Given the description of an element on the screen output the (x, y) to click on. 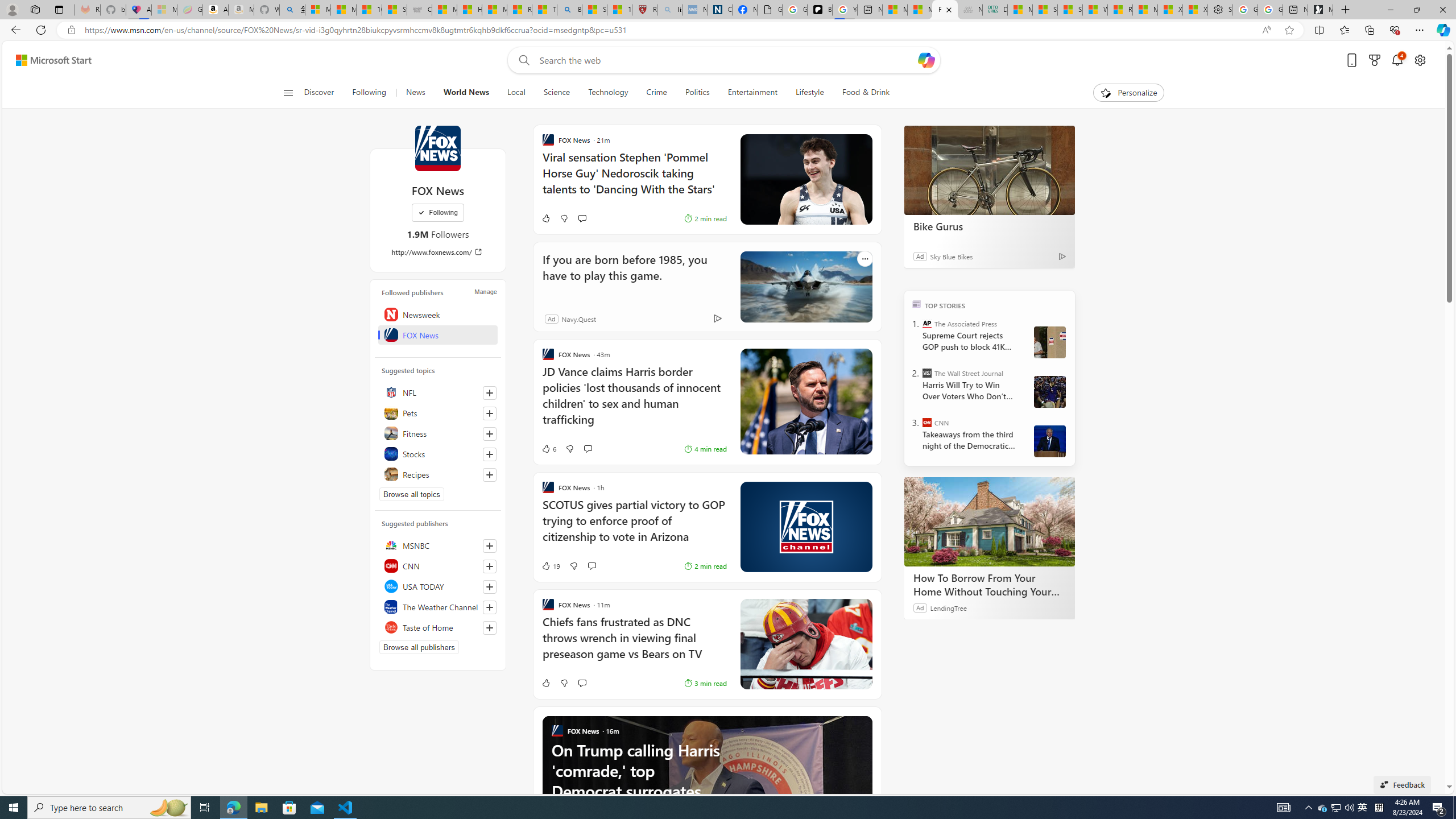
Fitness (437, 433)
Robert H. Shmerling, MD - Harvard Health (644, 9)
LendingTree (948, 607)
Be Smart | creating Science videos | Patreon (819, 9)
Sky Blue Bikes (951, 256)
